Given the description of an element on the screen output the (x, y) to click on. 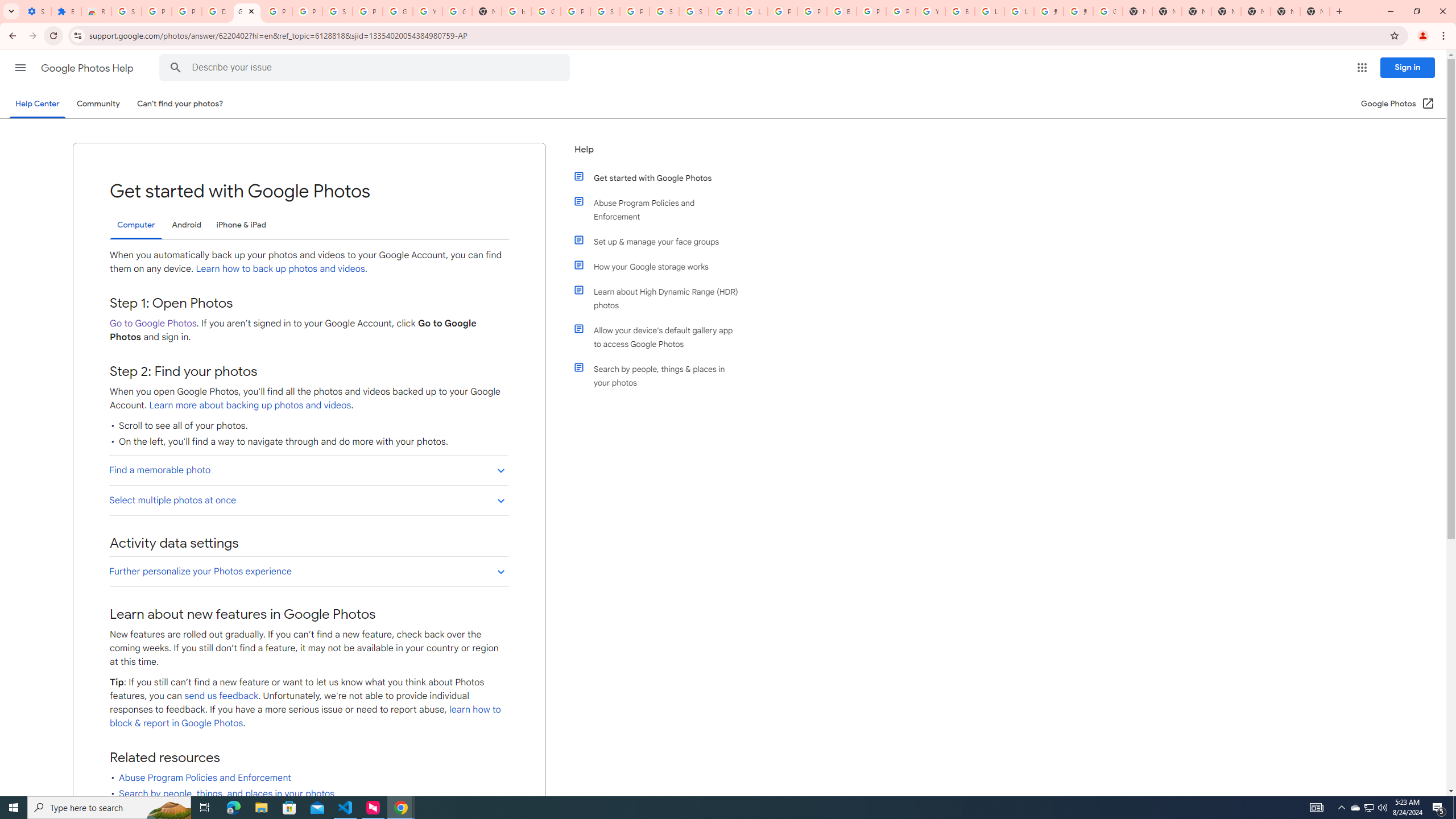
iPhone & iPad (240, 224)
Google Account (397, 11)
New Tab (1226, 11)
